Given the description of an element on the screen output the (x, y) to click on. 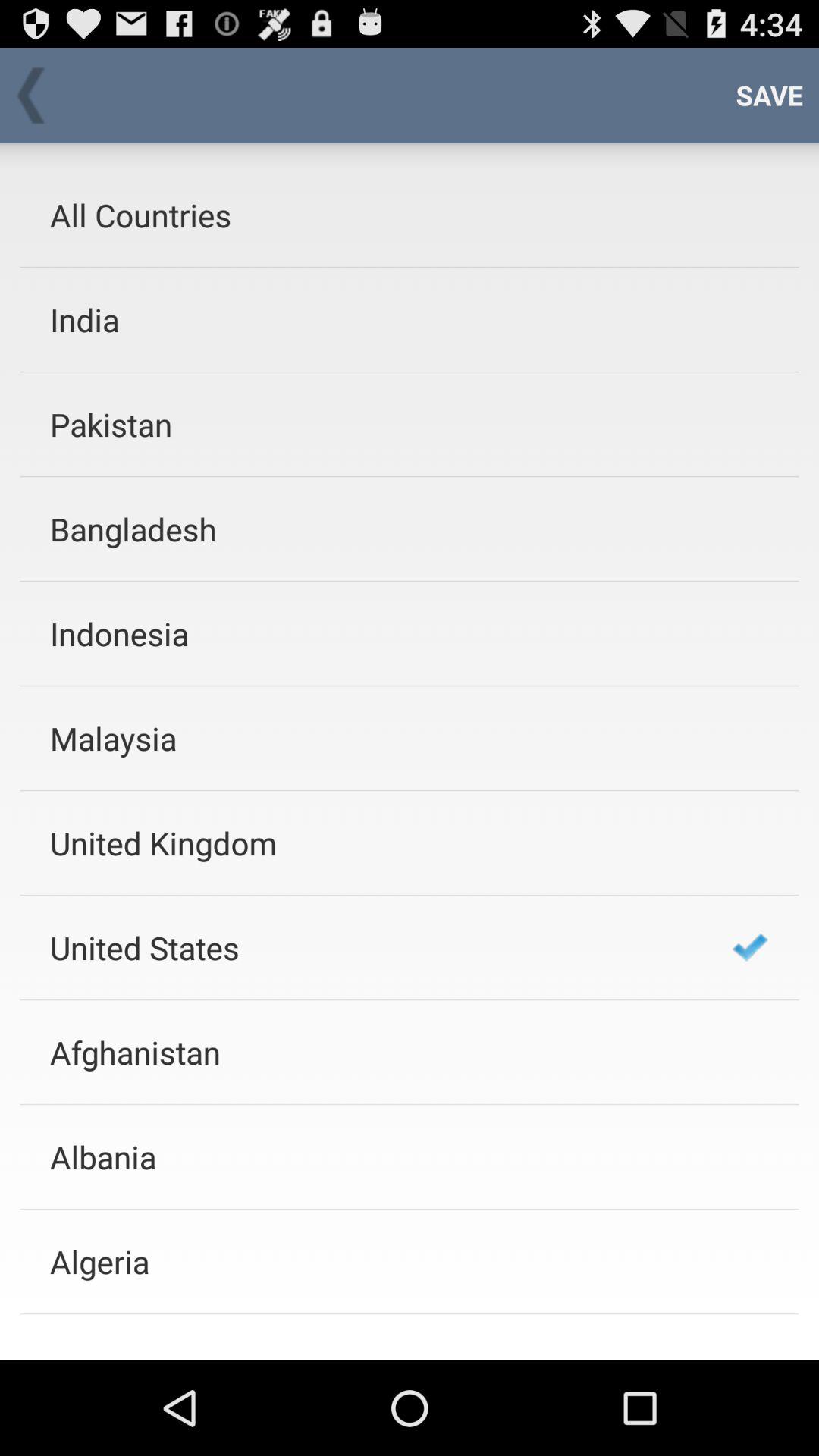
flip to the all countries item (371, 214)
